Given the description of an element on the screen output the (x, y) to click on. 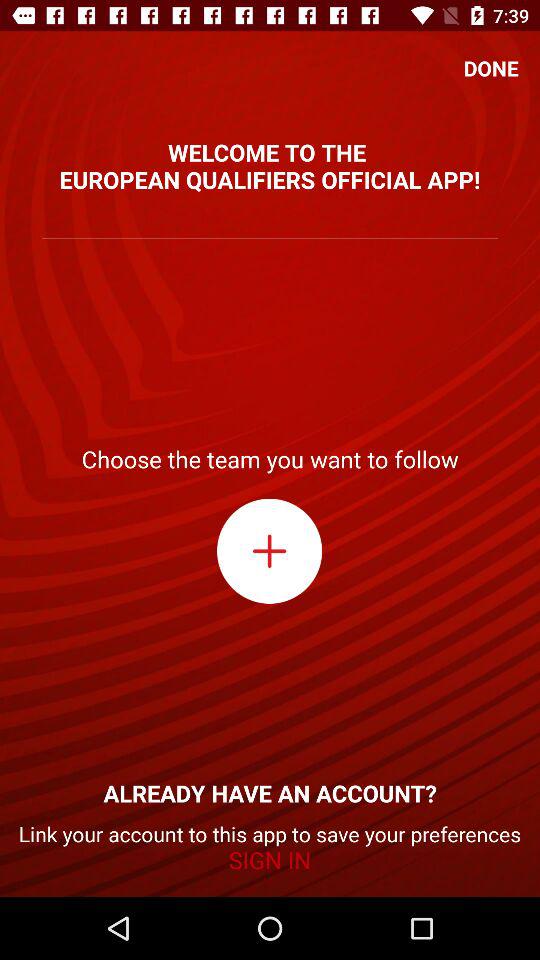
open done icon (491, 68)
